Given the description of an element on the screen output the (x, y) to click on. 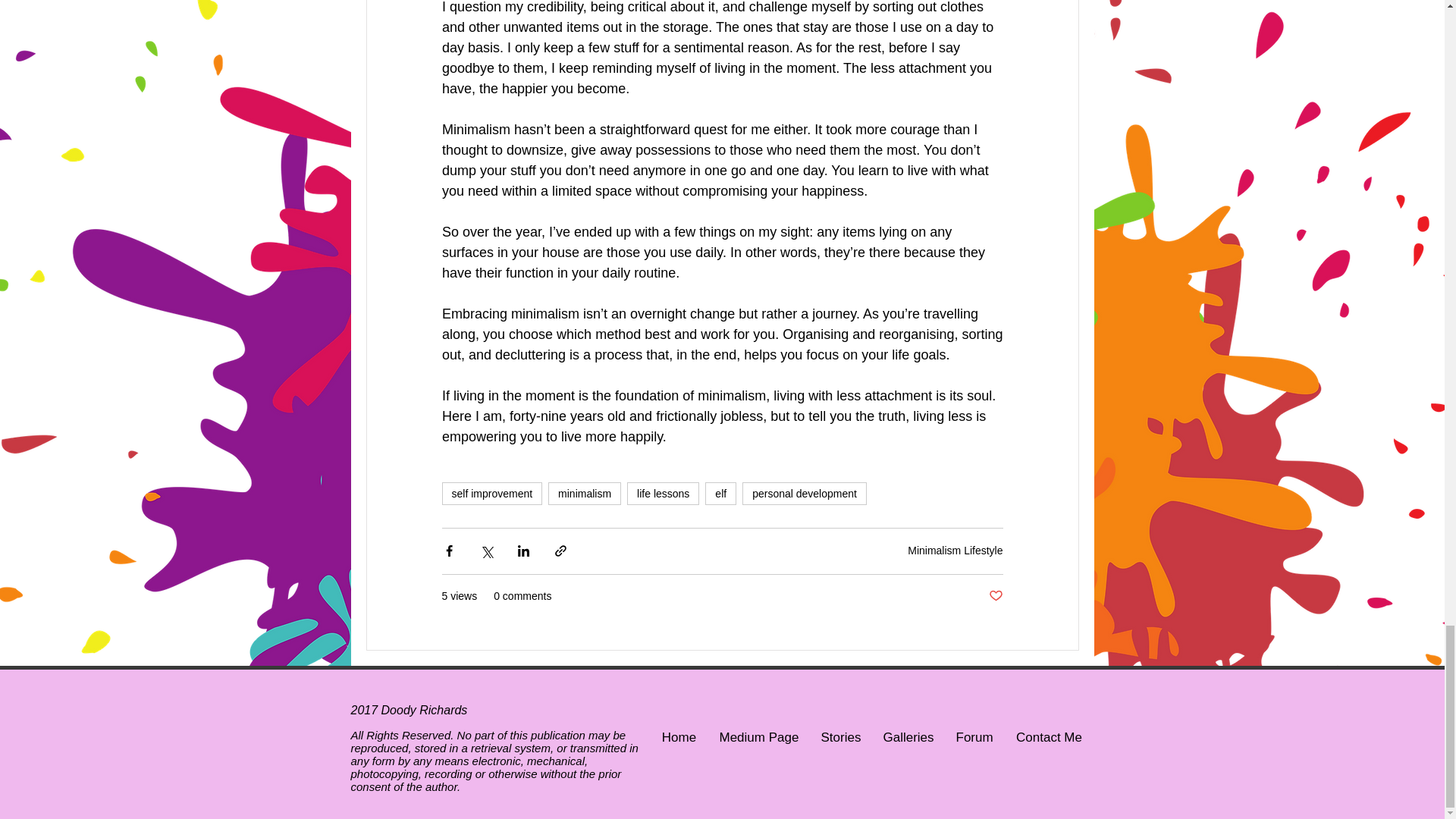
life lessons (662, 493)
personal development (804, 493)
elf (720, 493)
self improvement (491, 493)
Post not marked as liked (995, 596)
Contact Me (1048, 737)
Minimalism Lifestyle (955, 550)
Medium Page (758, 737)
minimalism (584, 493)
